Given the description of an element on the screen output the (x, y) to click on. 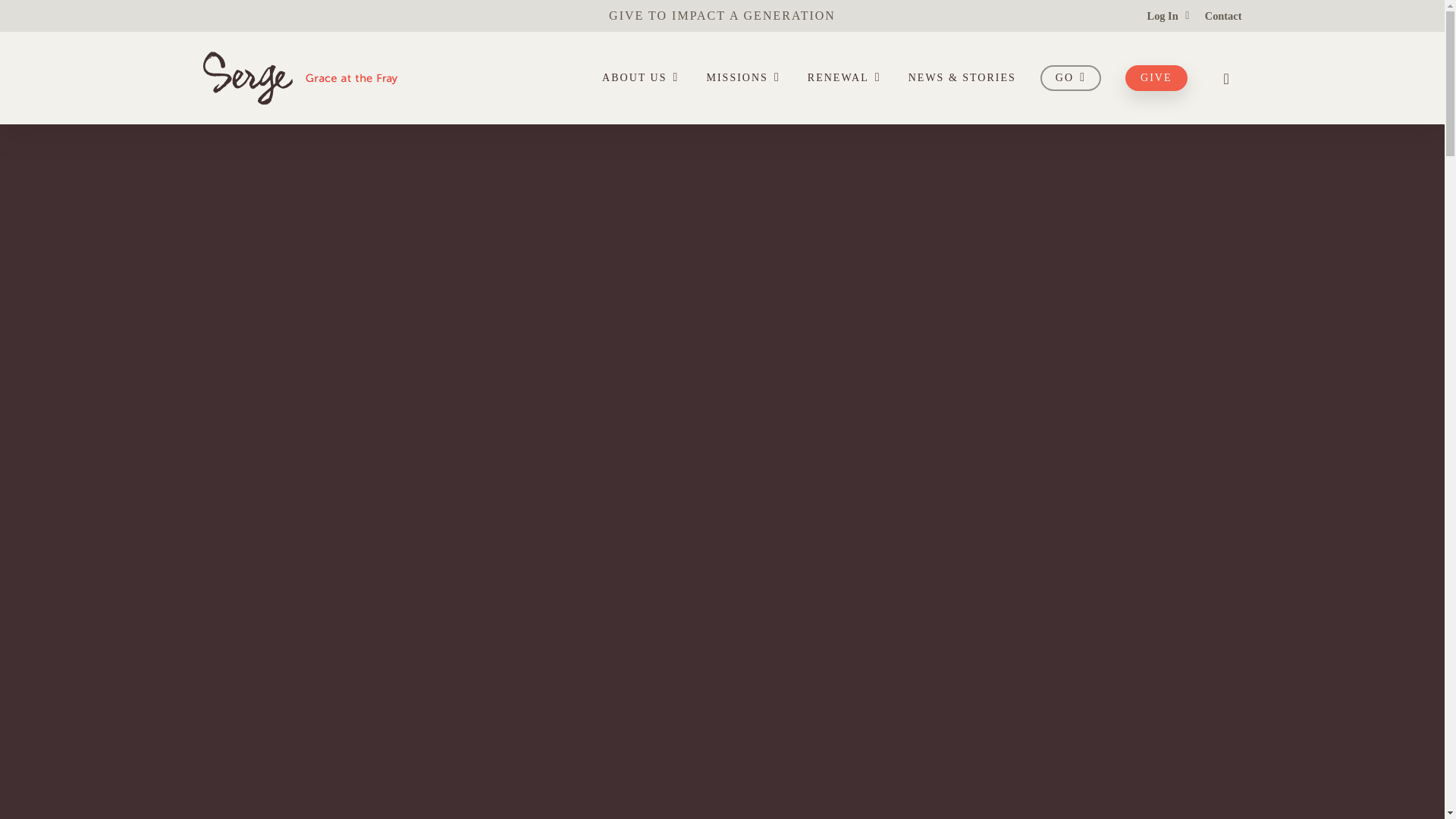
MISSIONS (744, 77)
Posts by Serge (758, 371)
Contact (1223, 15)
GIVE TO IMPACT A GENERATION (721, 15)
ABOUT US (641, 77)
Log In (1168, 15)
